Given the description of an element on the screen output the (x, y) to click on. 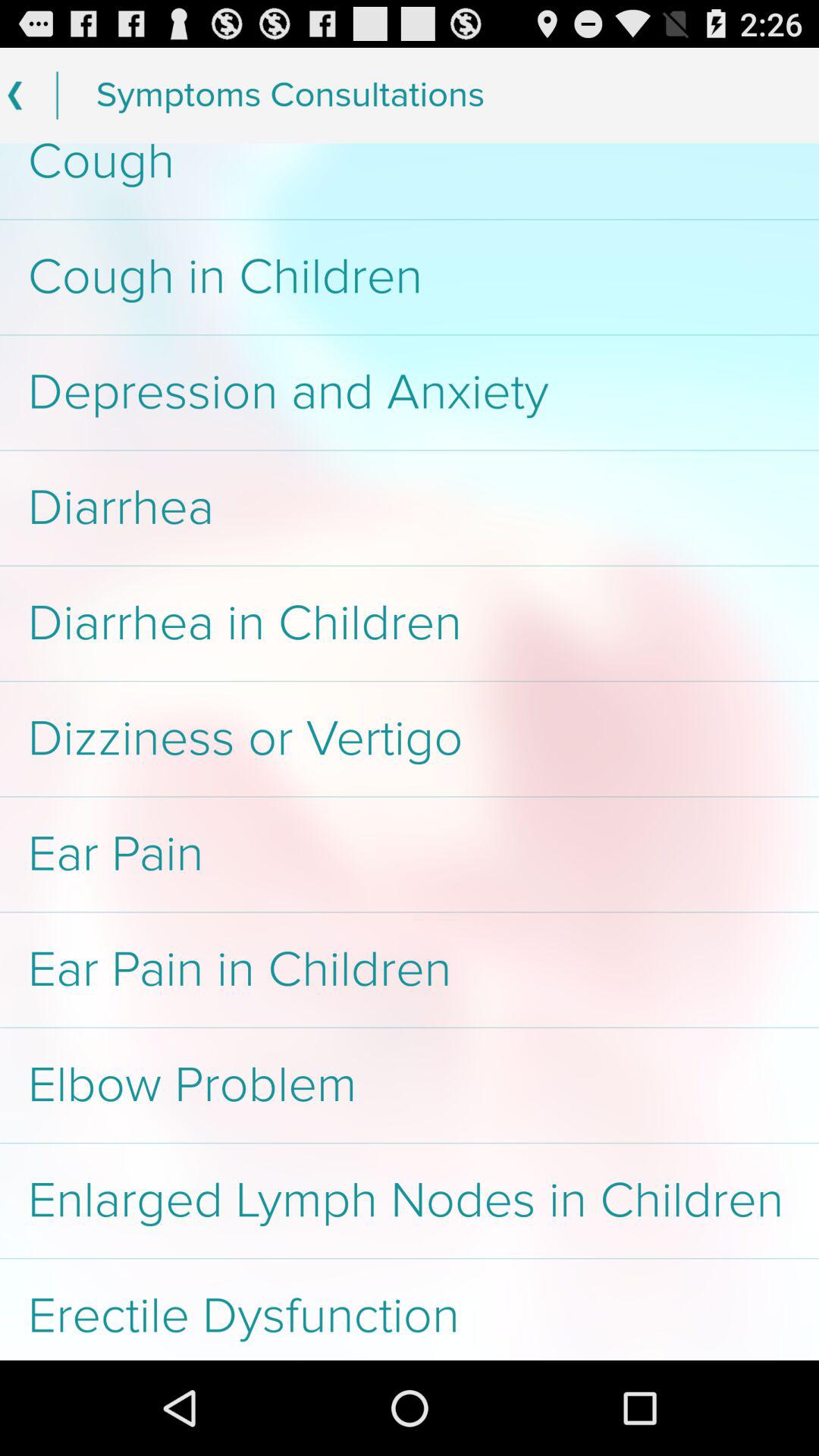
tap the app above the enlarged lymph nodes item (409, 1085)
